Given the description of an element on the screen output the (x, y) to click on. 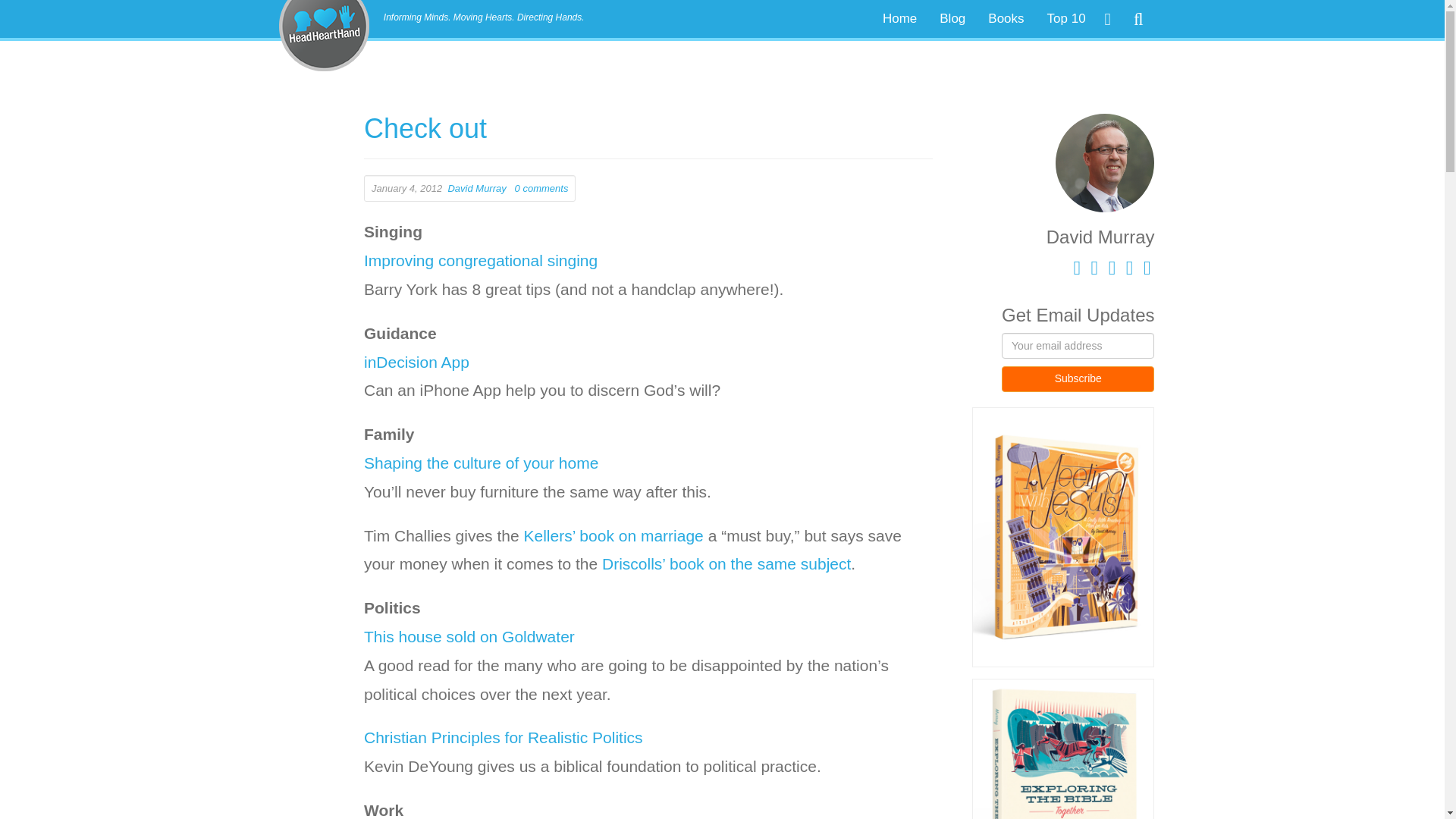
inDecision App  (419, 361)
Shaping the culture of your home (481, 462)
Christian Principles for Realistic Politics (503, 737)
HeadHeartHand Blog (324, 11)
Top 10 (1066, 18)
David Murray (475, 188)
Comment on Check out (542, 188)
View all posts by David Murray (475, 188)
Subscribe (1077, 379)
Books (1005, 18)
Subscribe (1077, 379)
Home (899, 18)
0 comments (542, 188)
Blog (952, 18)
This house sold on Goldwater (469, 636)
